Given the description of an element on the screen output the (x, y) to click on. 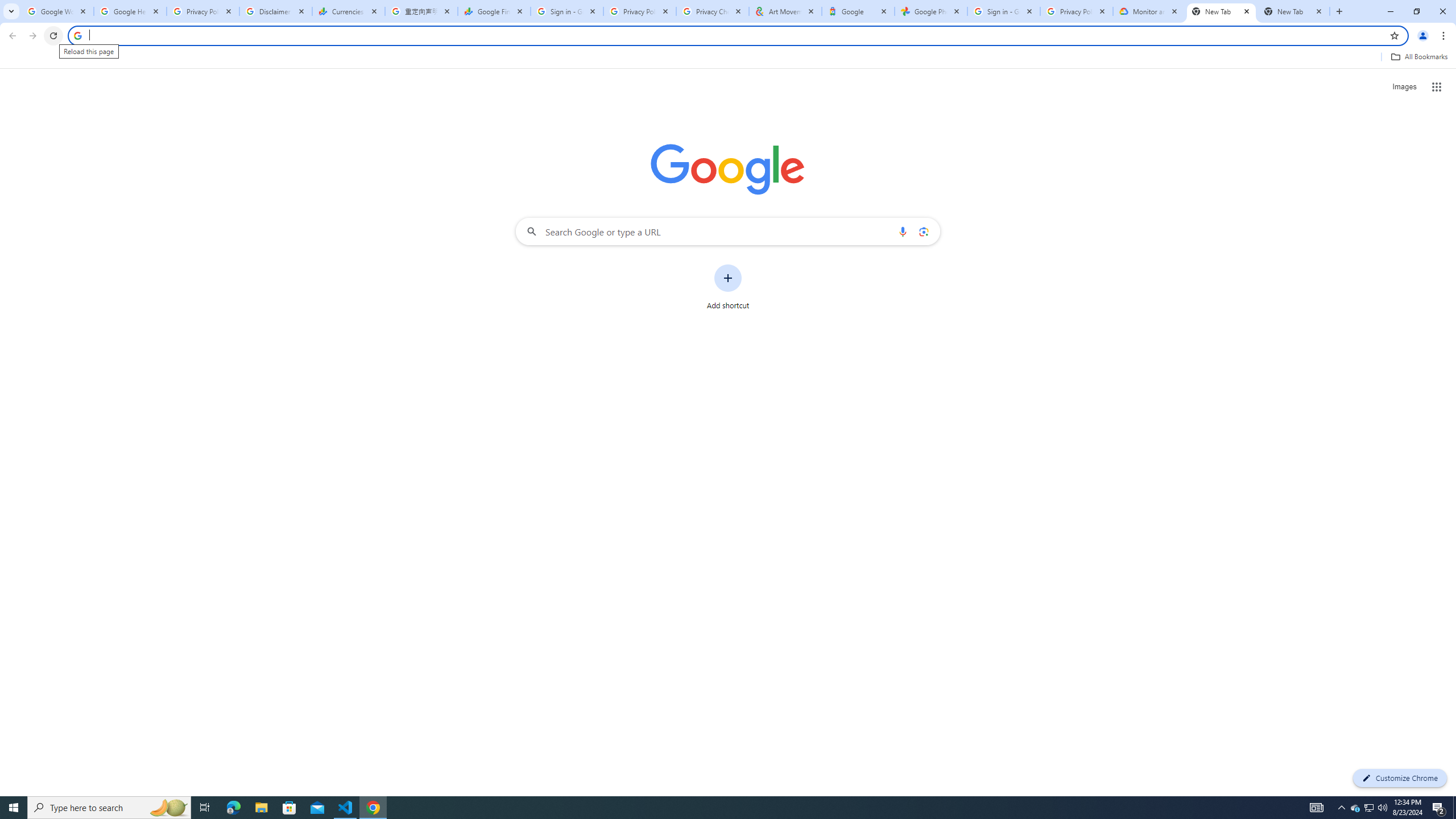
Search for Images  (1403, 87)
Search by image (922, 230)
Google (857, 11)
Search Google or type a URL (727, 230)
Sign in - Google Accounts (566, 11)
Search by voice (902, 230)
